Given the description of an element on the screen output the (x, y) to click on. 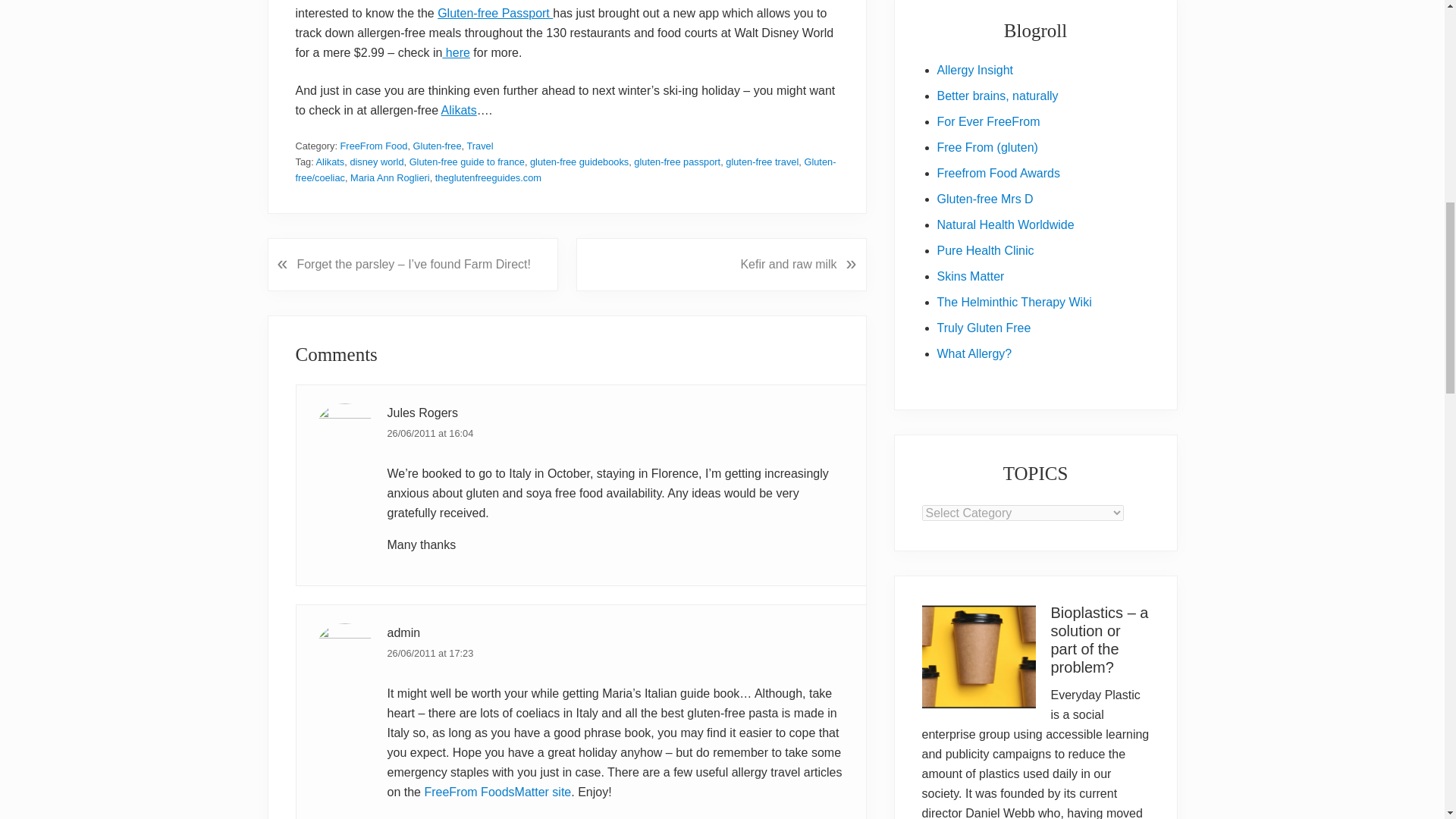
Interesting blog from anaphylaxis sufferer (974, 353)
Alikats (330, 161)
here (455, 51)
gluten-free travel (761, 161)
Living with coeliac disease (987, 146)
FreeFrom Food (373, 145)
Alikats (459, 110)
gluten-free passport (676, 161)
disney world (376, 161)
